Given the description of an element on the screen output the (x, y) to click on. 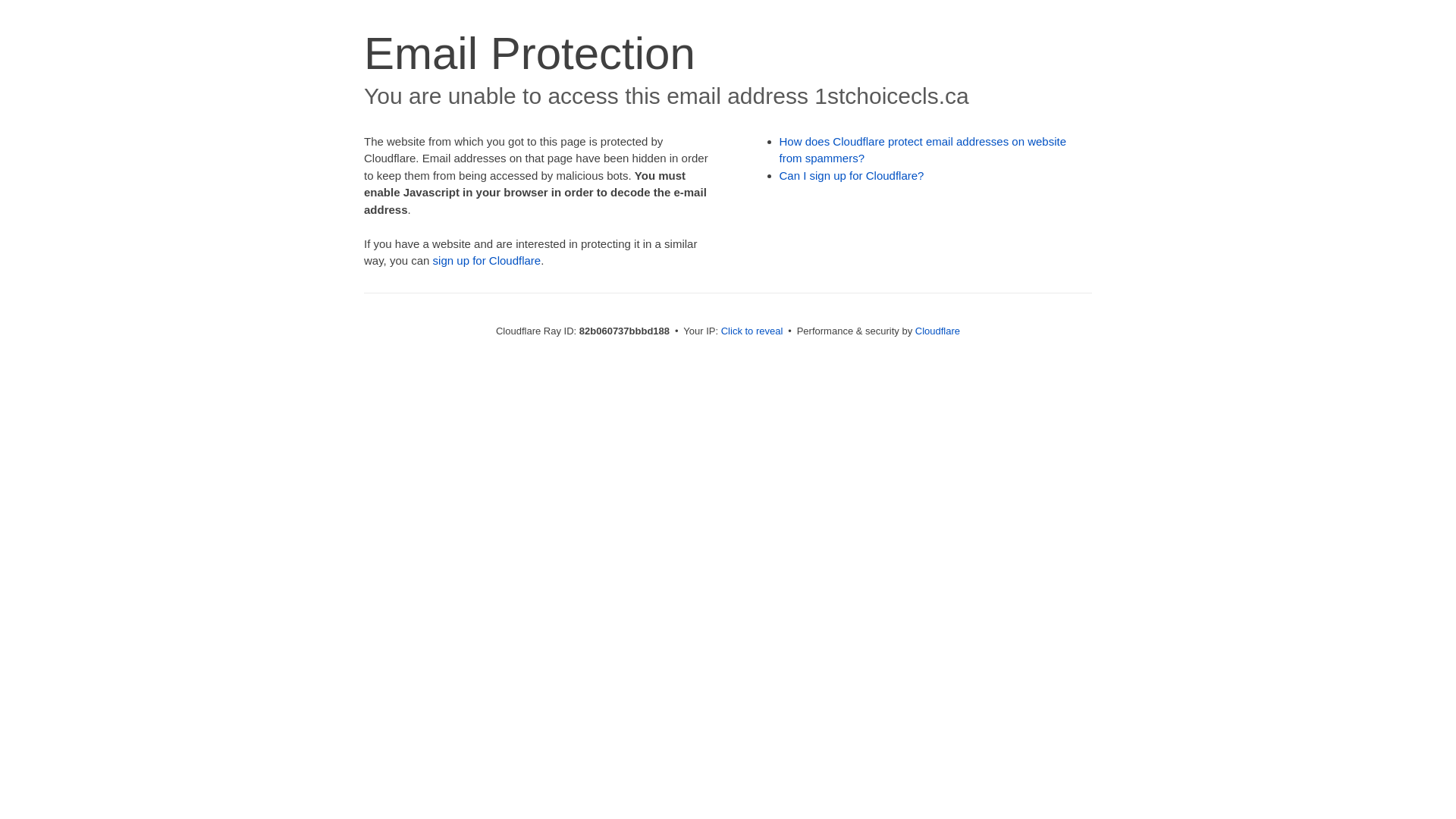
Can I sign up for Cloudflare? Element type: text (851, 175)
Click to reveal Element type: text (752, 330)
Cloudflare Element type: text (937, 330)
sign up for Cloudflare Element type: text (487, 260)
